Given the description of an element on the screen output the (x, y) to click on. 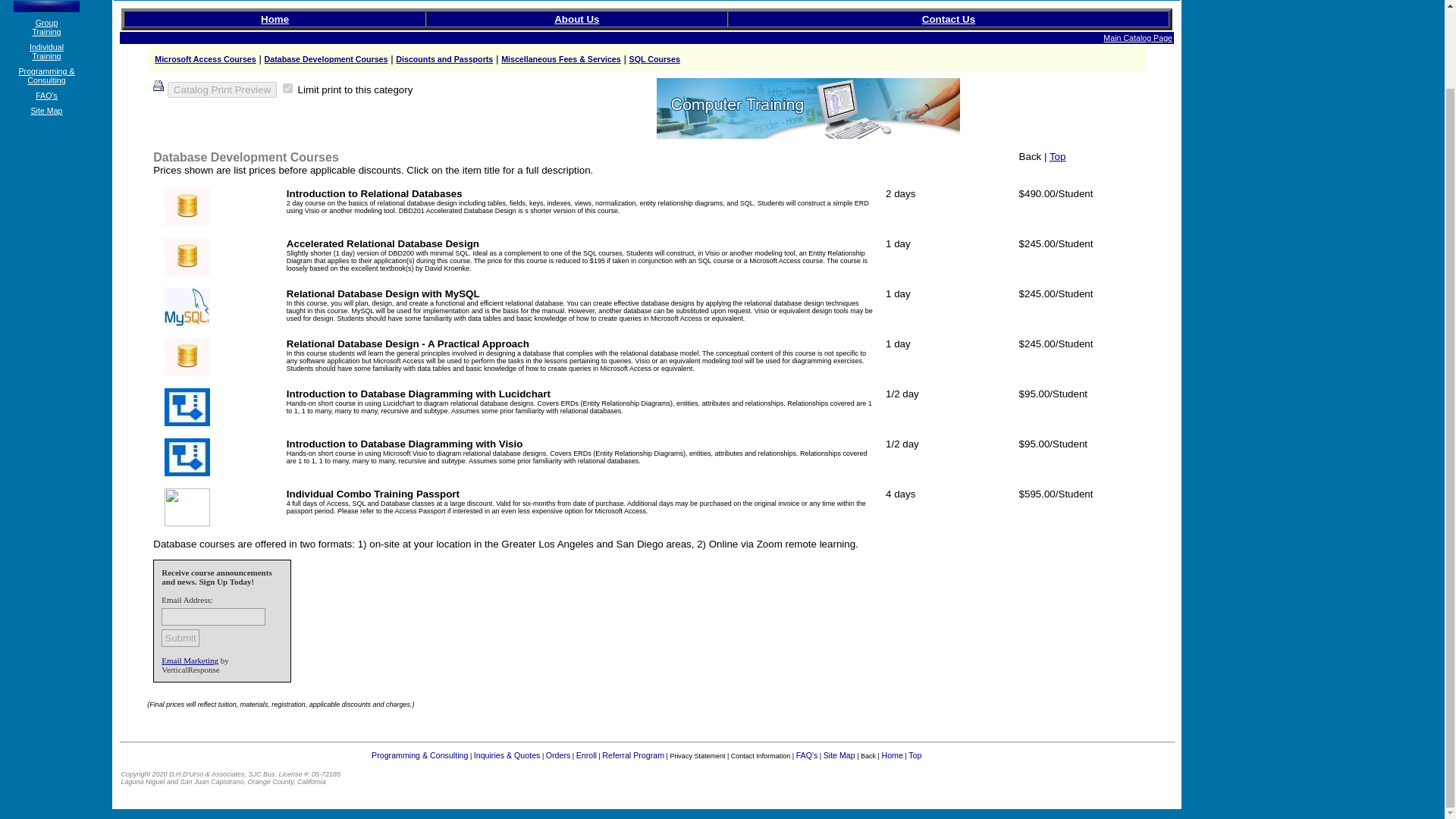
Back (1030, 156)
Introduction to Relational Databases (46, 51)
Database Development Courses (374, 193)
About Us (326, 58)
Request information (576, 19)
Main Catalog Page (807, 107)
Discounts and Passports (1137, 37)
FAQ's (444, 58)
Accelerated Relational Database Design (46, 94)
Email Marketing (382, 243)
Go to detailed description (189, 660)
Y (407, 343)
Contact Us (287, 88)
Home (948, 19)
